Given the description of an element on the screen output the (x, y) to click on. 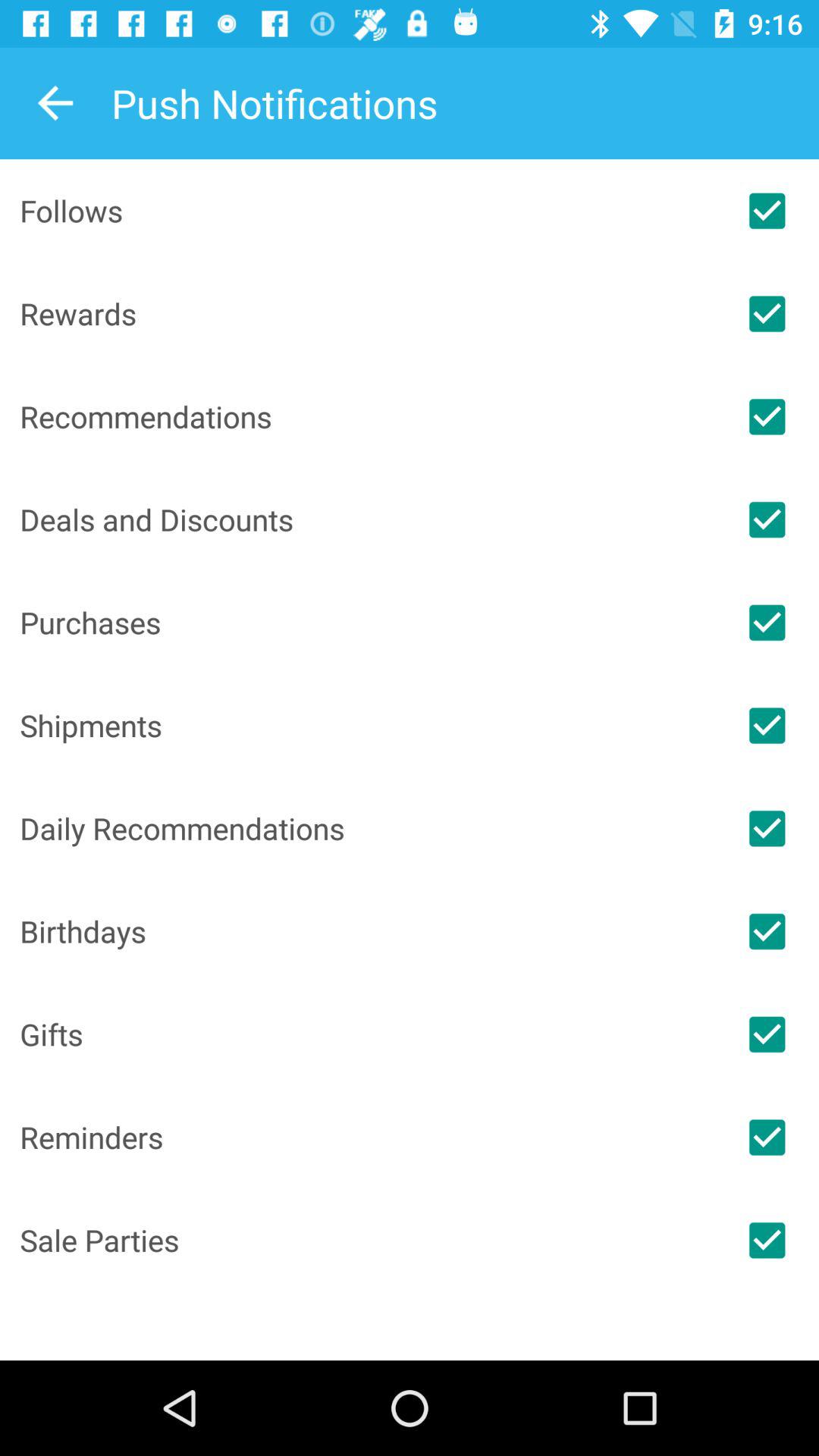
click the icon to the left of the push notifications icon (55, 103)
